Given the description of an element on the screen output the (x, y) to click on. 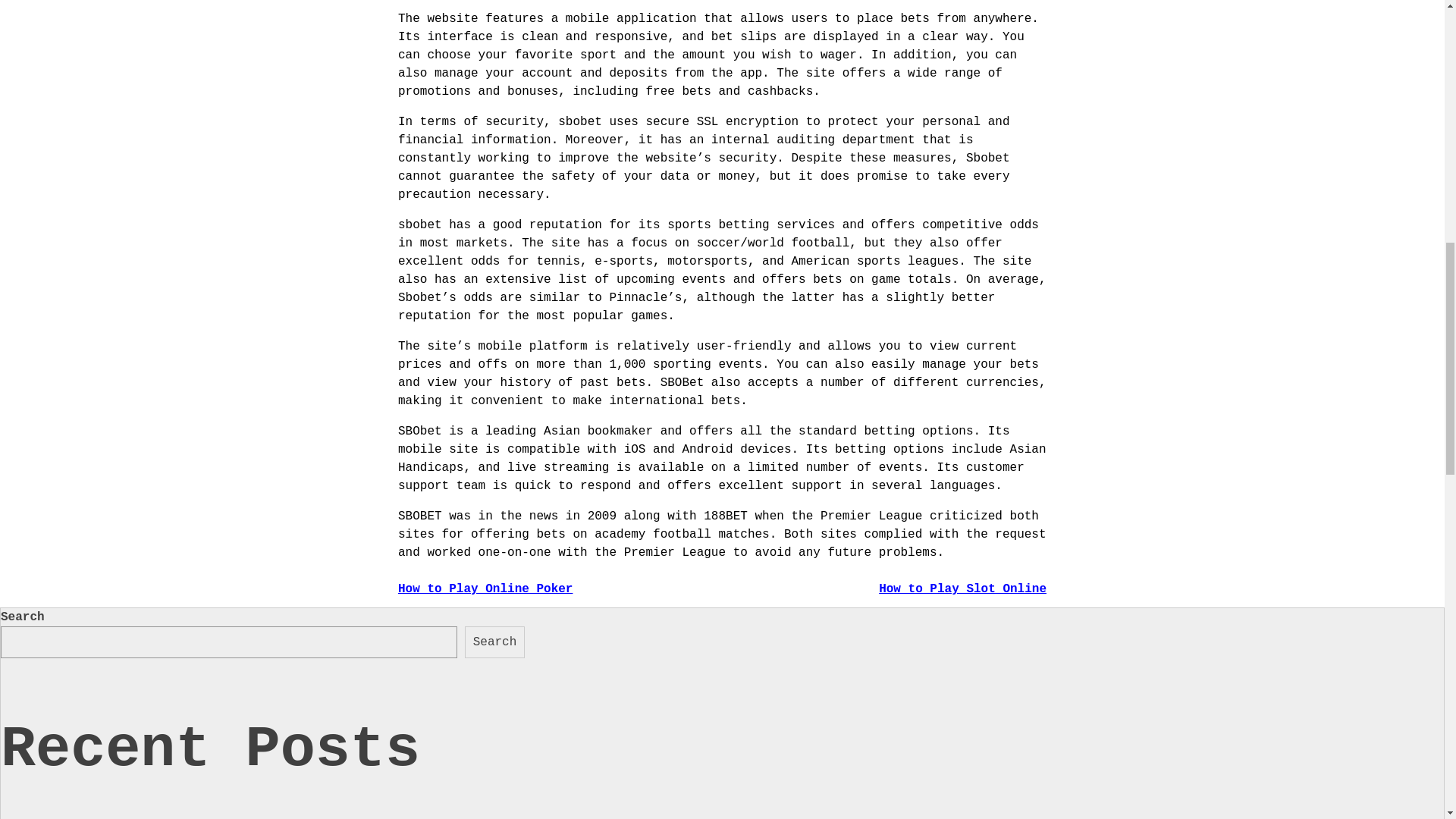
How to Play Slot Online (962, 589)
Search (494, 642)
How to Play Online Poker (484, 589)
